Given the description of an element on the screen output the (x, y) to click on. 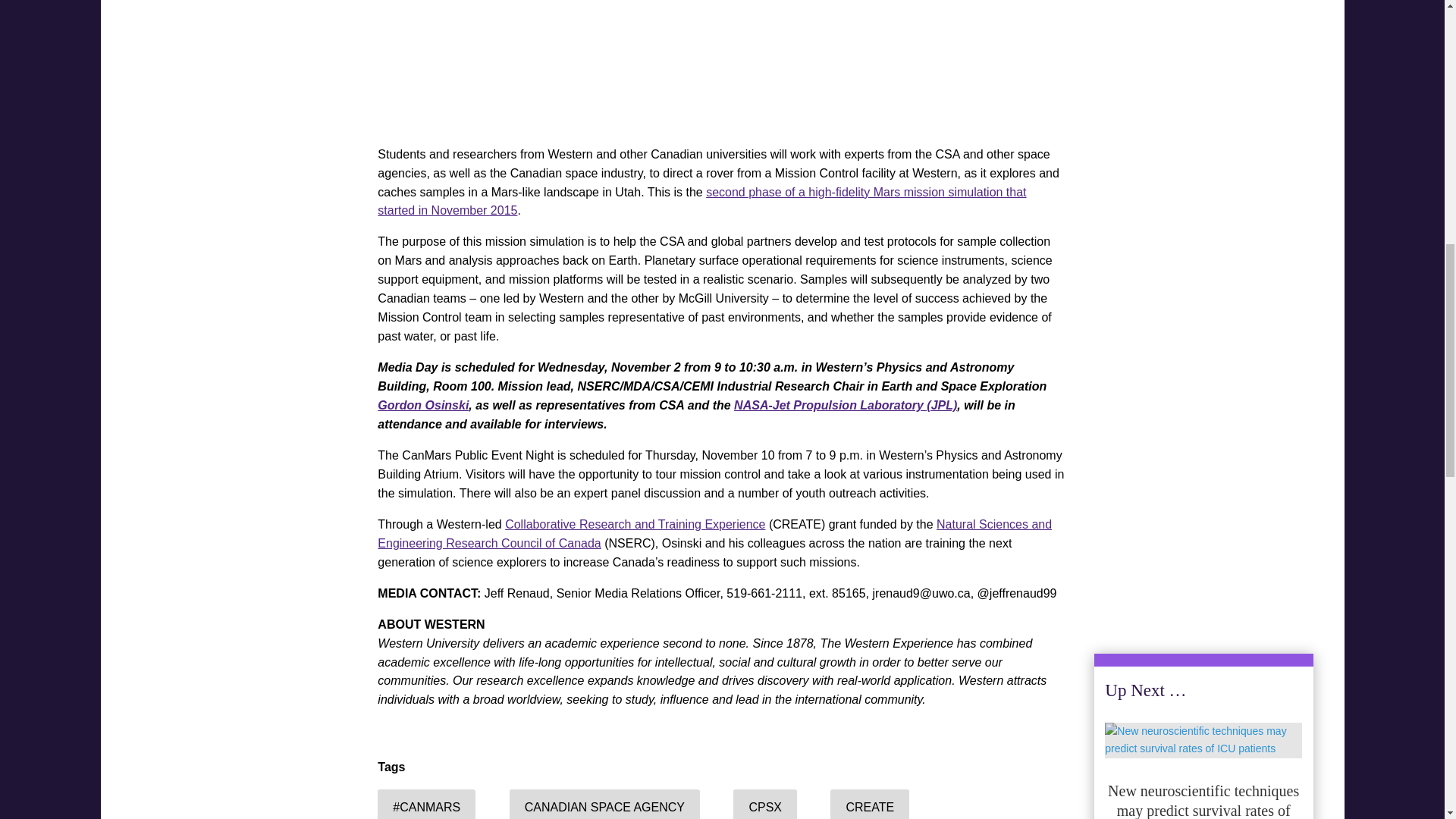
Gordon Osinski (422, 404)
A Sneak Peek of the 2016 Mars Sample Return Simulation (721, 63)
